Given the description of an element on the screen output the (x, y) to click on. 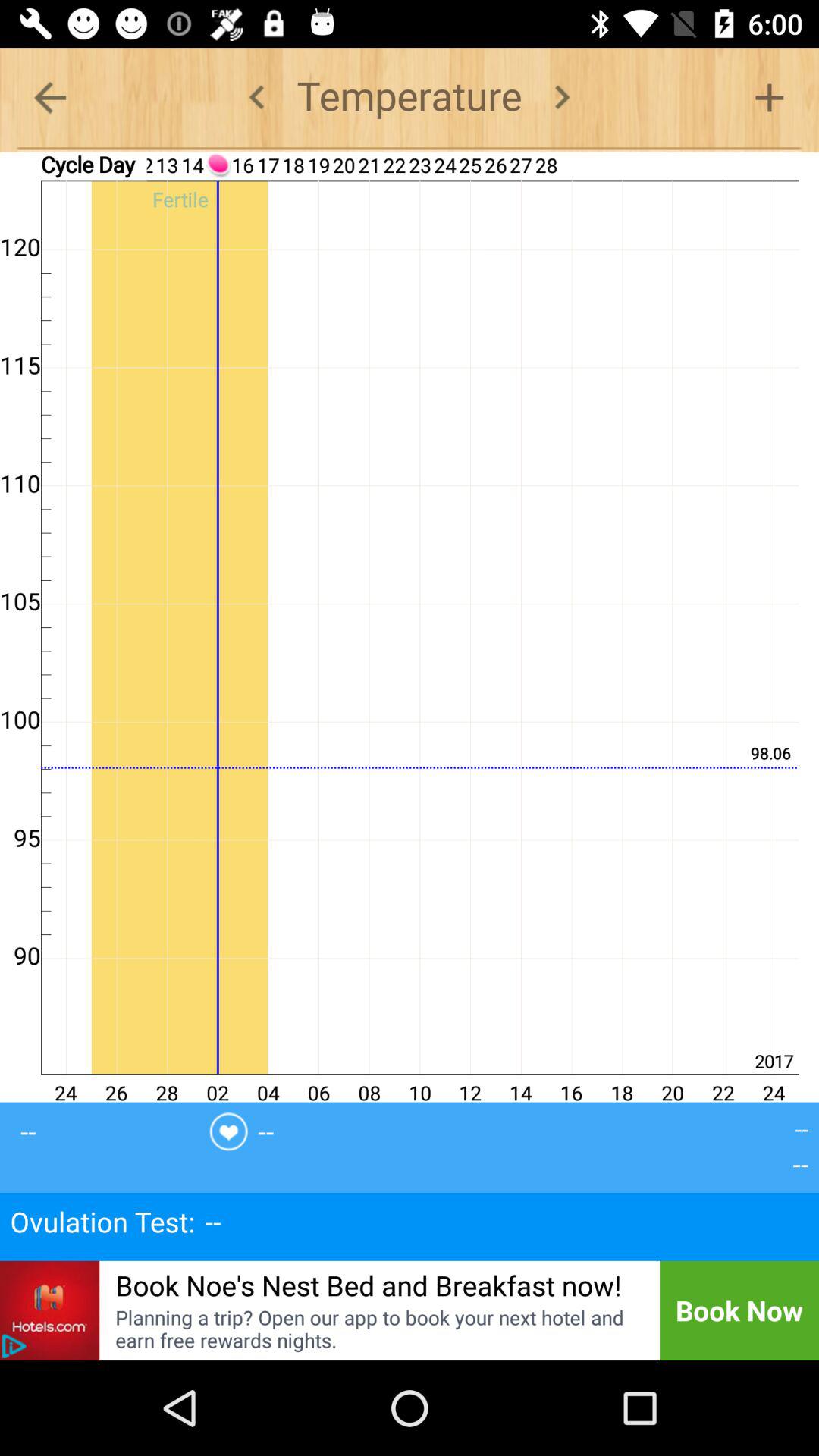
turn off icon below the ovulation test item (49, 1310)
